Given the description of an element on the screen output the (x, y) to click on. 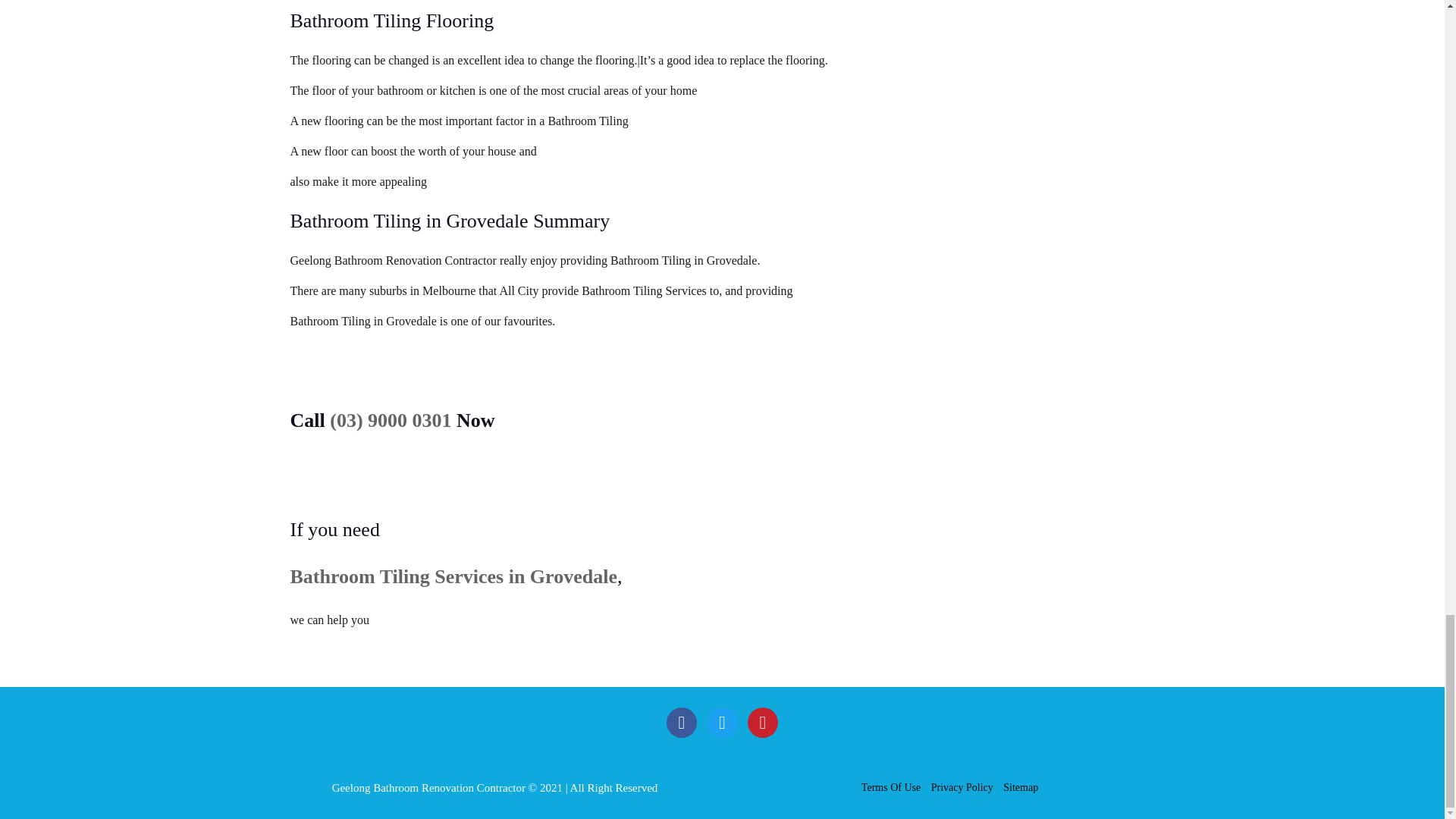
Google-Plus (762, 722)
Facebook (681, 722)
Twitter (721, 722)
Bathroom Tiling Services in Grovedale (452, 576)
